Given the description of an element on the screen output the (x, y) to click on. 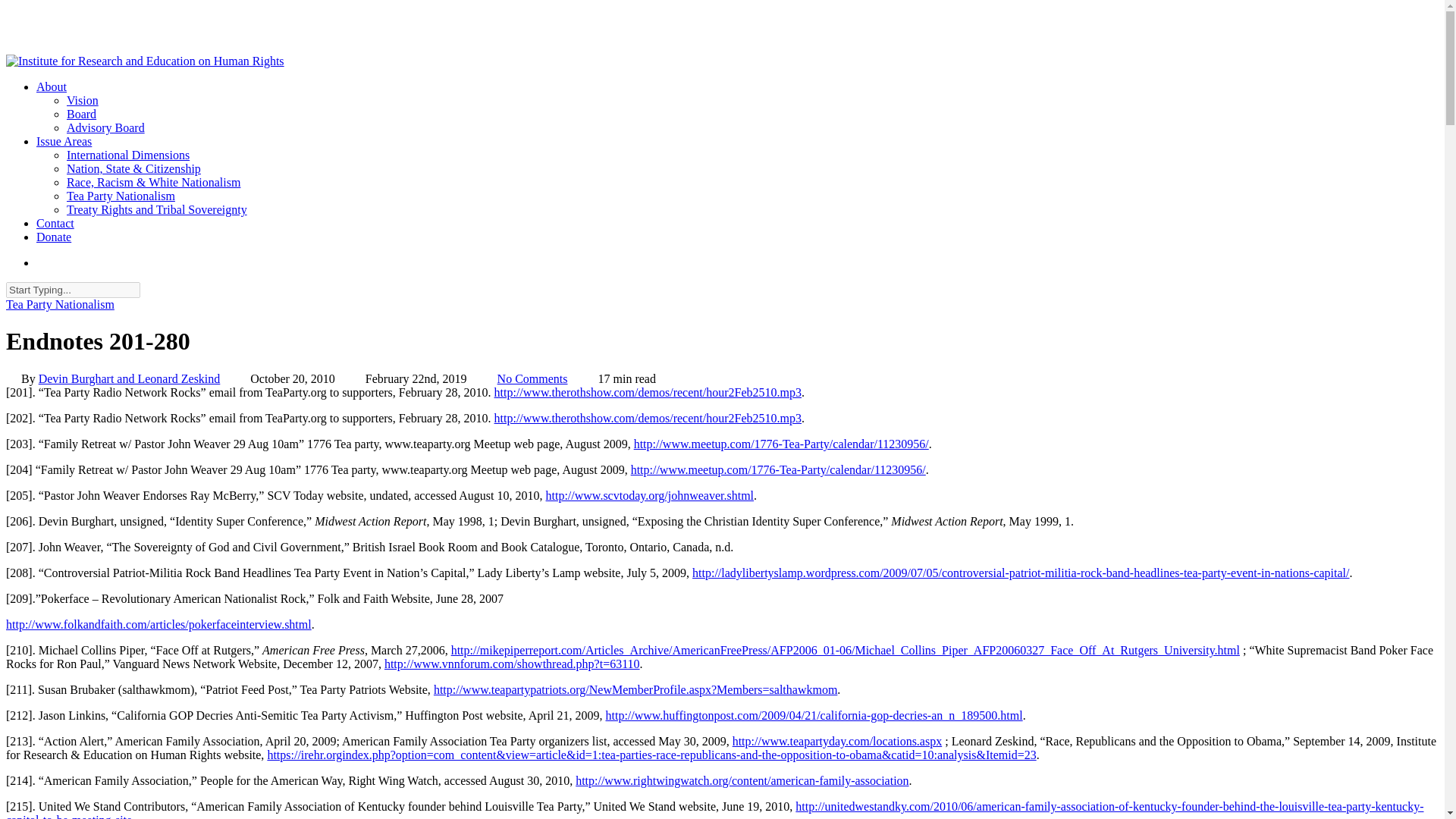
Tea Party Nationalism (60, 304)
Board (81, 113)
International Dimensions (127, 154)
Tea Party Nationalism (120, 195)
Advisory Board (105, 127)
Start Typing... (72, 289)
Treaty Rights and Tribal Sovereignty (156, 209)
Contact (55, 223)
About (51, 86)
Posts by Devin Burghart and Leonard Zeskind (130, 378)
Devin Burghart and Leonard Zeskind (130, 378)
Donate (53, 236)
Vision (82, 100)
Issue Areas (63, 141)
